Given the description of an element on the screen output the (x, y) to click on. 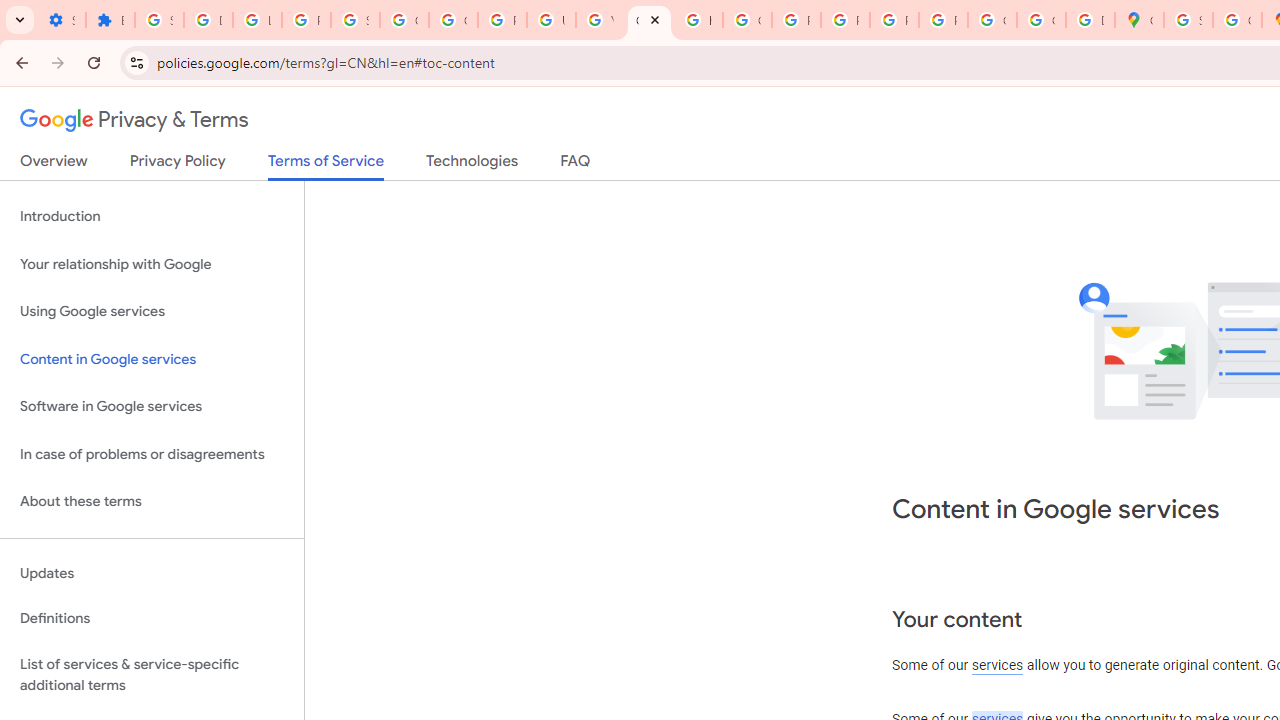
Content in Google services (152, 358)
Introduction (152, 216)
Software in Google services (152, 407)
In case of problems or disagreements (152, 453)
Sign in - Google Accounts (159, 20)
About these terms (152, 502)
Google Maps (1138, 20)
services (997, 666)
Privacy & Terms (134, 120)
Technologies (472, 165)
Delete photos & videos - Computer - Google Photos Help (208, 20)
